Given the description of an element on the screen output the (x, y) to click on. 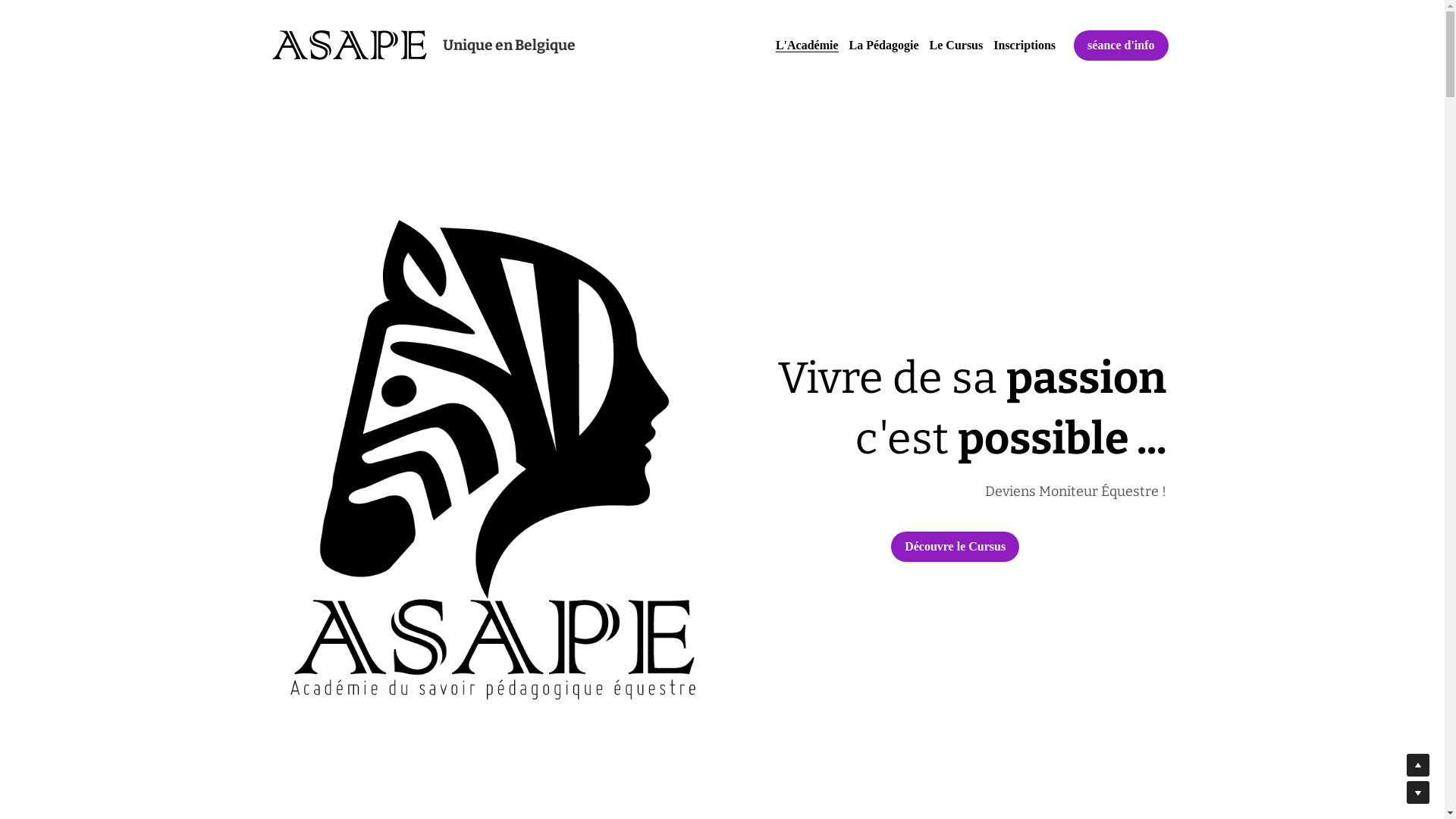
Inscriptions Element type: text (1024, 44)
Le Cursus Element type: text (956, 44)
ASAPE.BE Element type: hover (349, 45)
